Given the description of an element on the screen output the (x, y) to click on. 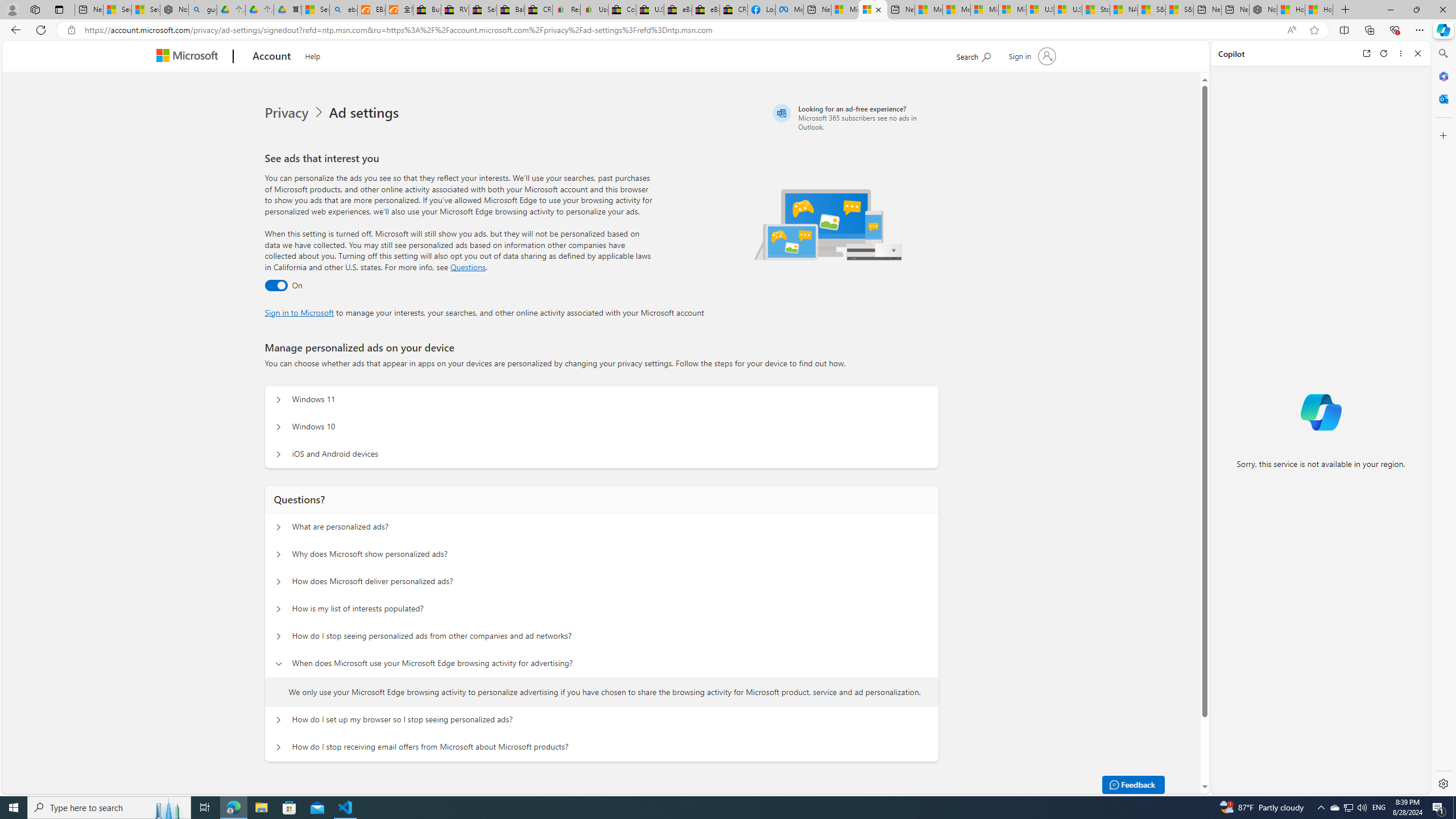
Ad settings (366, 112)
Go to Questions section (467, 266)
Ad settings toggle (276, 285)
Baby Keepsakes & Announcements for sale | eBay (510, 9)
User Privacy Notice | eBay (593, 9)
Search Microsoft.com (972, 54)
